Given the description of an element on the screen output the (x, y) to click on. 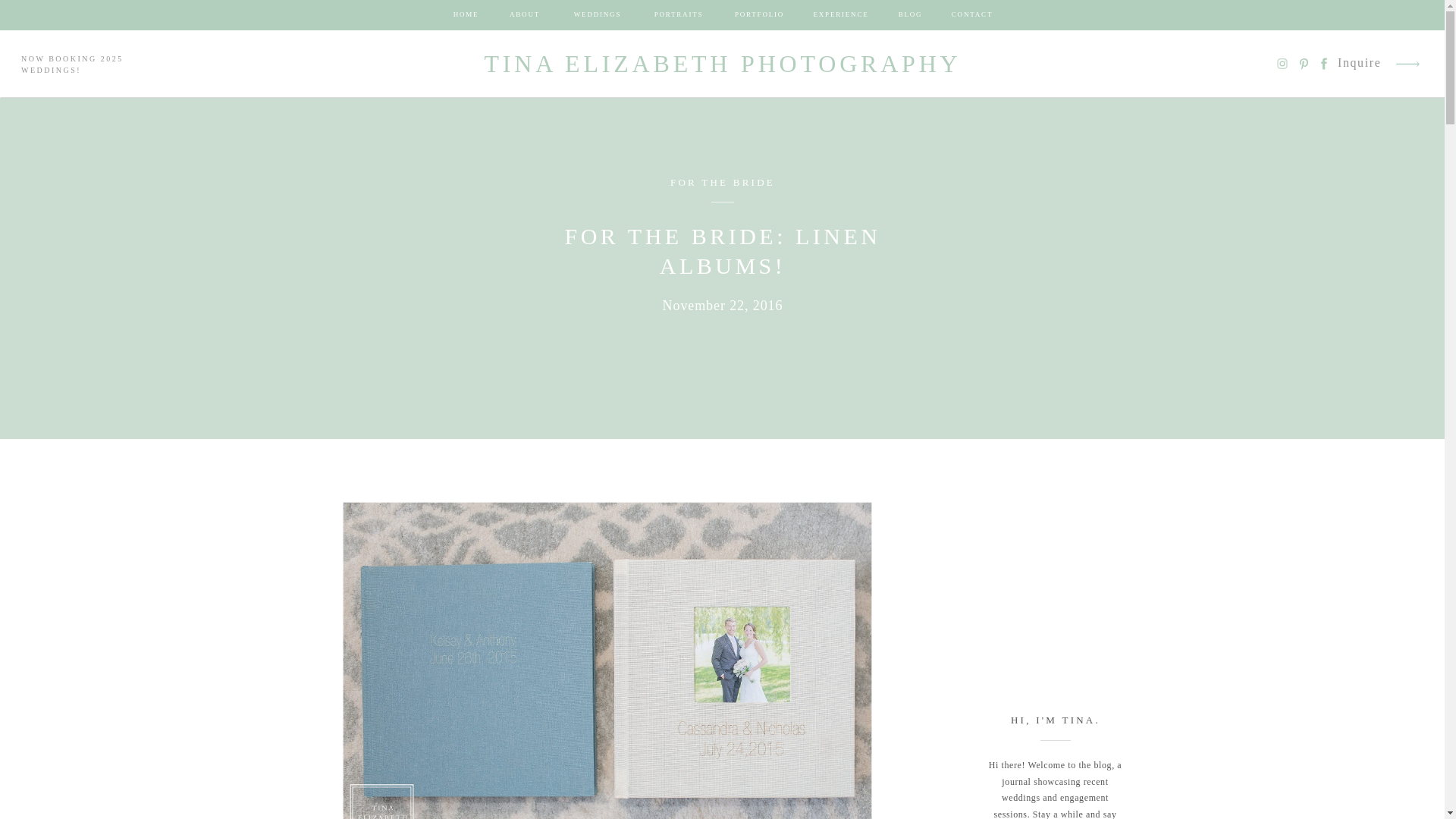
BLOG (909, 15)
arrow (1407, 63)
TINA ELIZABETH PHOTOGRAPHY (721, 65)
PORTFOLIO (759, 15)
FOR THE BRIDE (721, 182)
WEDDINGS (598, 15)
Inquire  (1360, 64)
CONTACT (972, 15)
HOME (465, 15)
EXPERIENCE (841, 15)
